Given the description of an element on the screen output the (x, y) to click on. 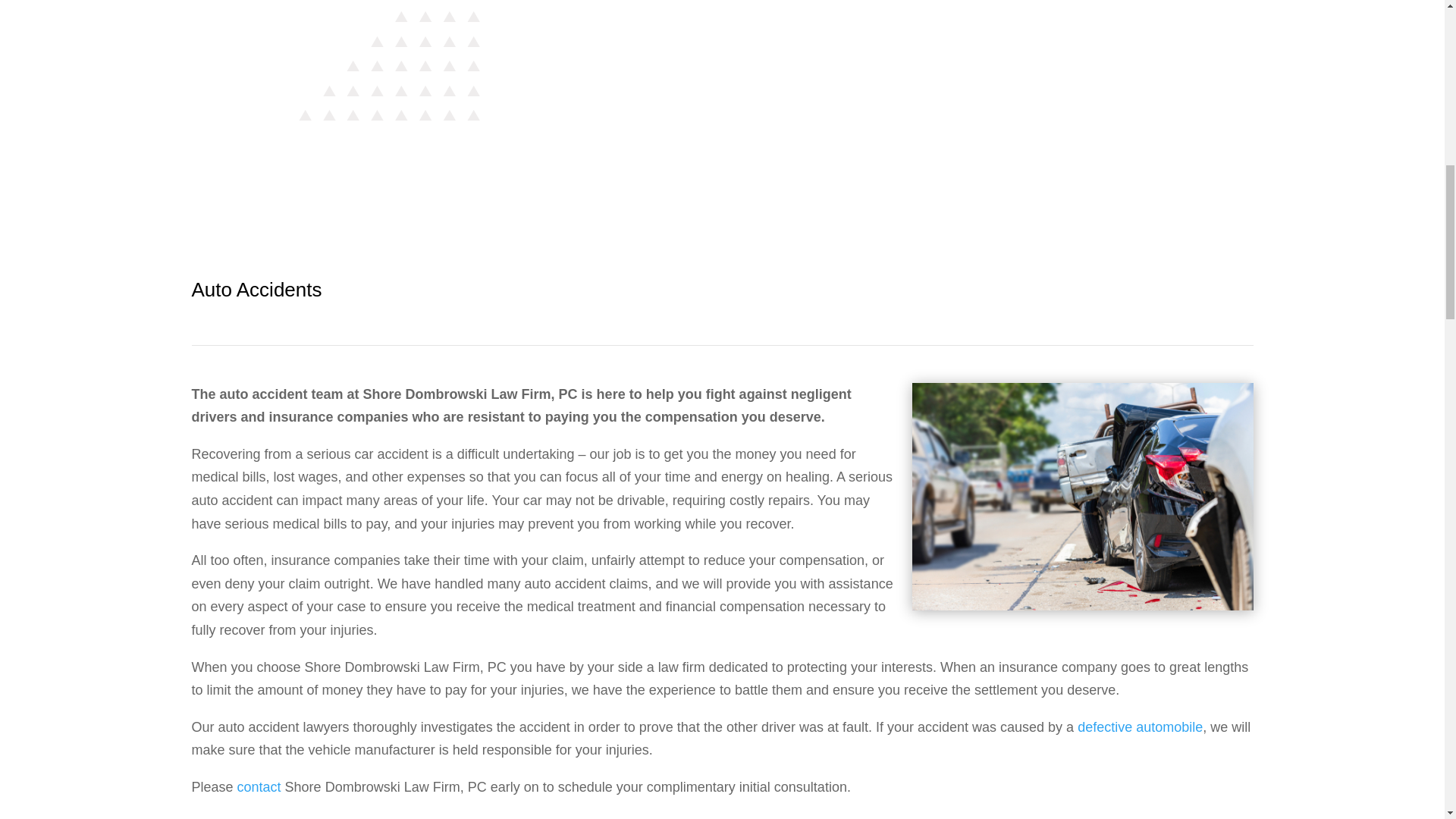
Contact Us (259, 786)
Defective Auto (1139, 726)
contact (259, 786)
defective automobile (1139, 726)
